Given the description of an element on the screen output the (x, y) to click on. 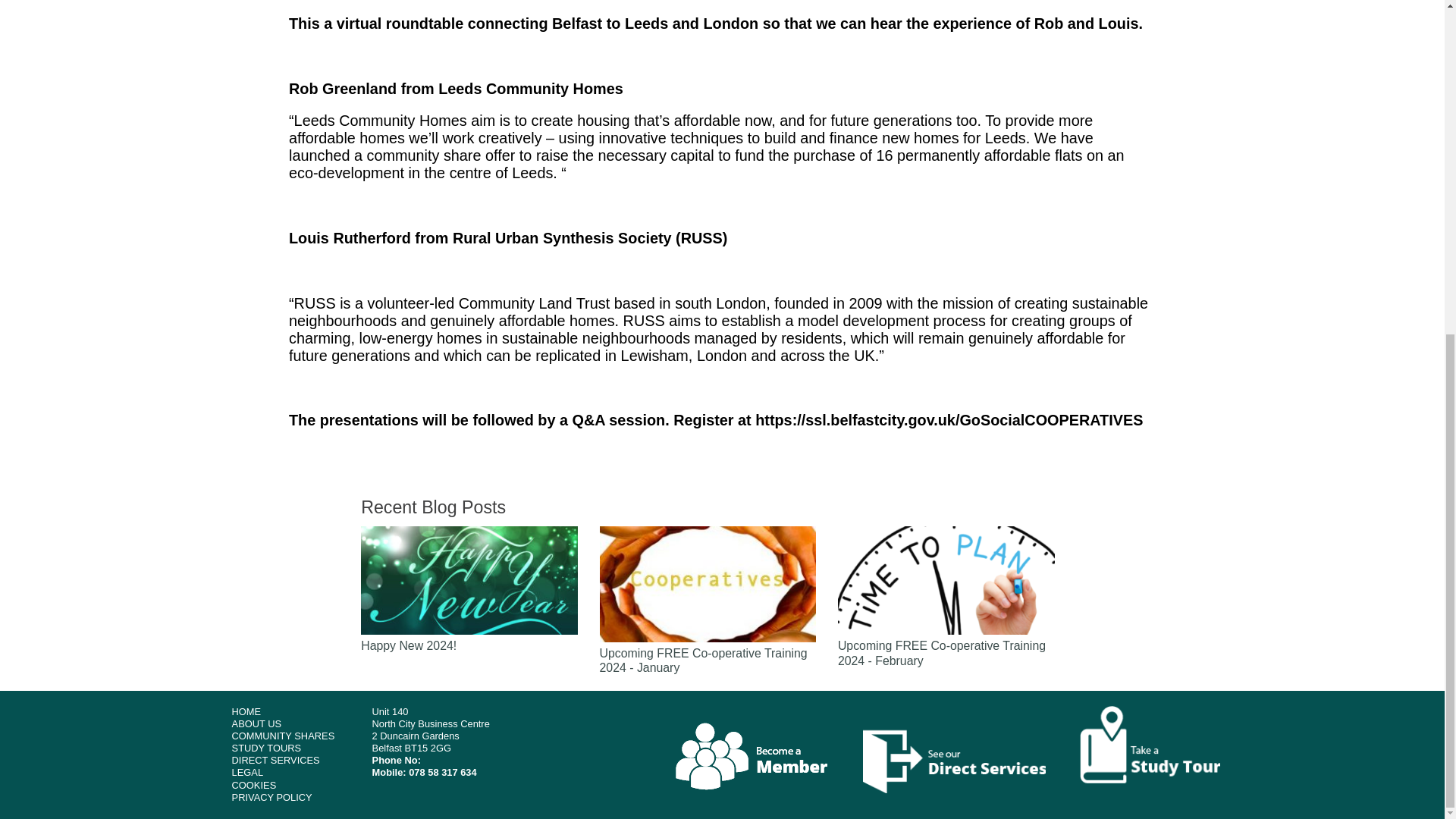
Happy New 2024! (469, 589)
